Given the description of an element on the screen output the (x, y) to click on. 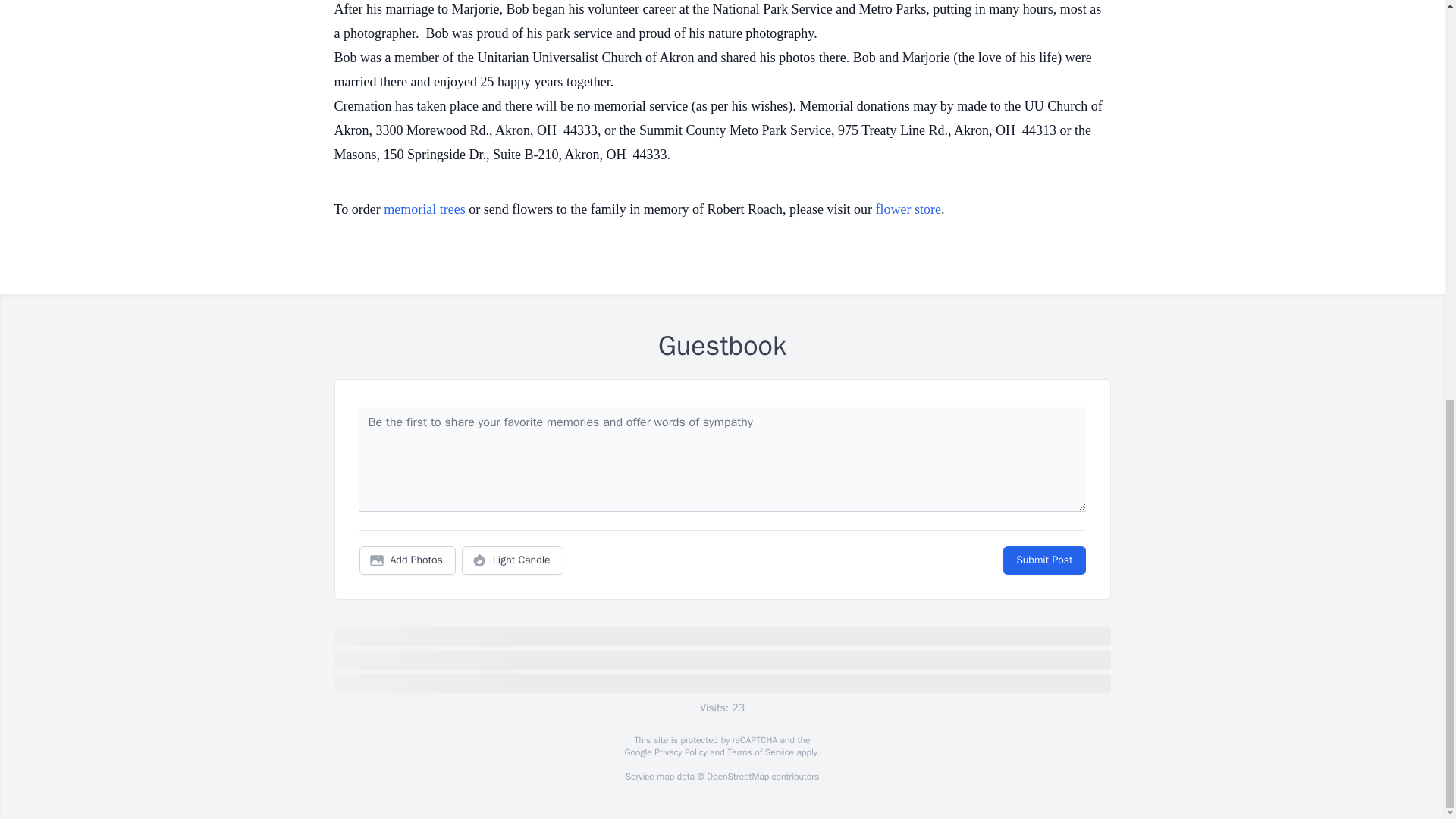
memorial trees (424, 209)
Add Photos (407, 560)
flower store (908, 209)
OpenStreetMap (737, 776)
Submit Post (1043, 560)
Privacy Policy (679, 752)
Light Candle (512, 560)
Terms of Service (759, 752)
